Given the description of an element on the screen output the (x, y) to click on. 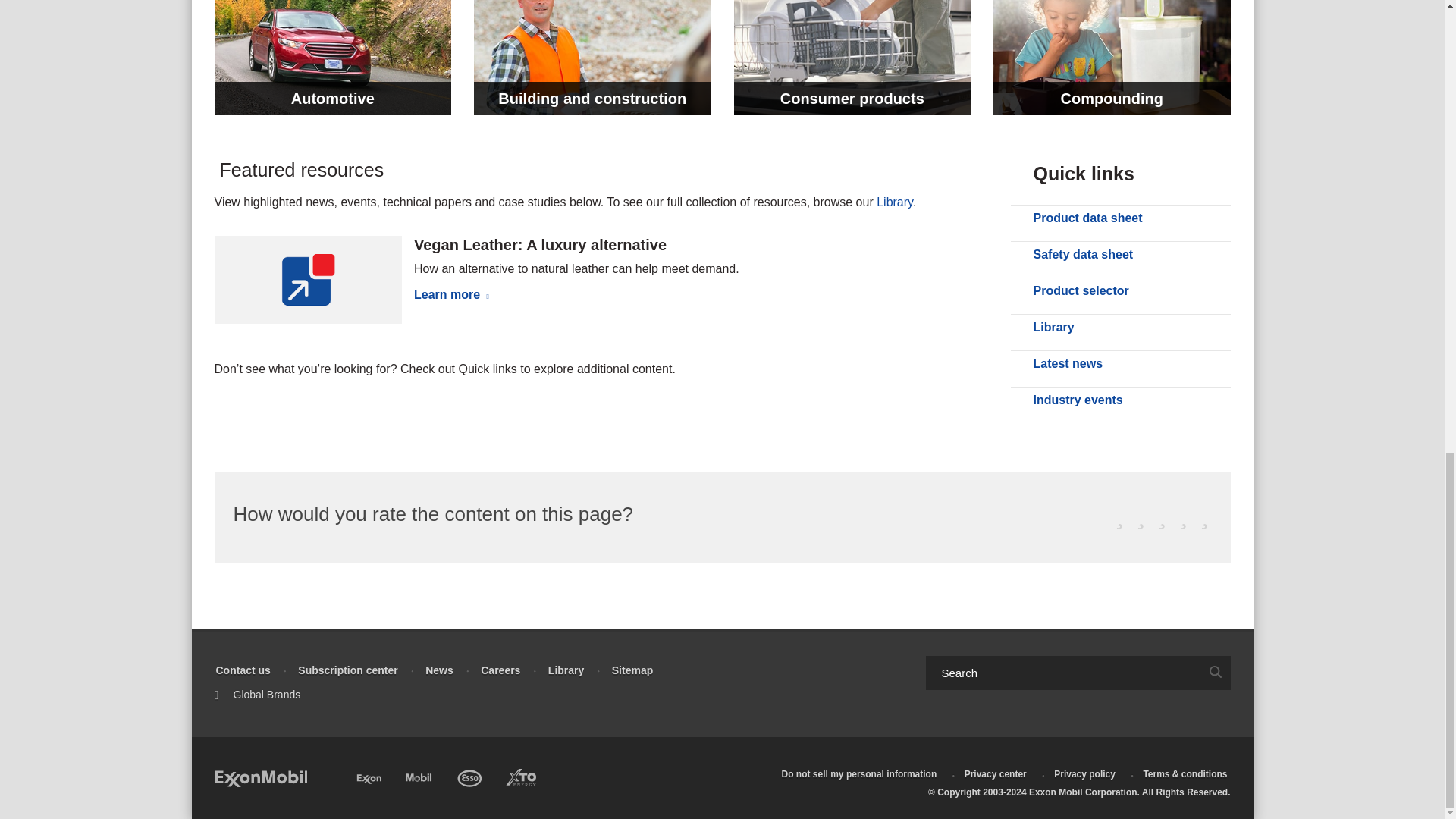
ExxonMobil Chemical share button icon (307, 279)
Insert a query. Press enter to send (1061, 673)
construction worker with hard hat and plans (592, 57)
Child loading dishwasher (852, 57)
Child with storage container (1111, 57)
Red Car taking turn on street (332, 57)
